Given the description of an element on the screen output the (x, y) to click on. 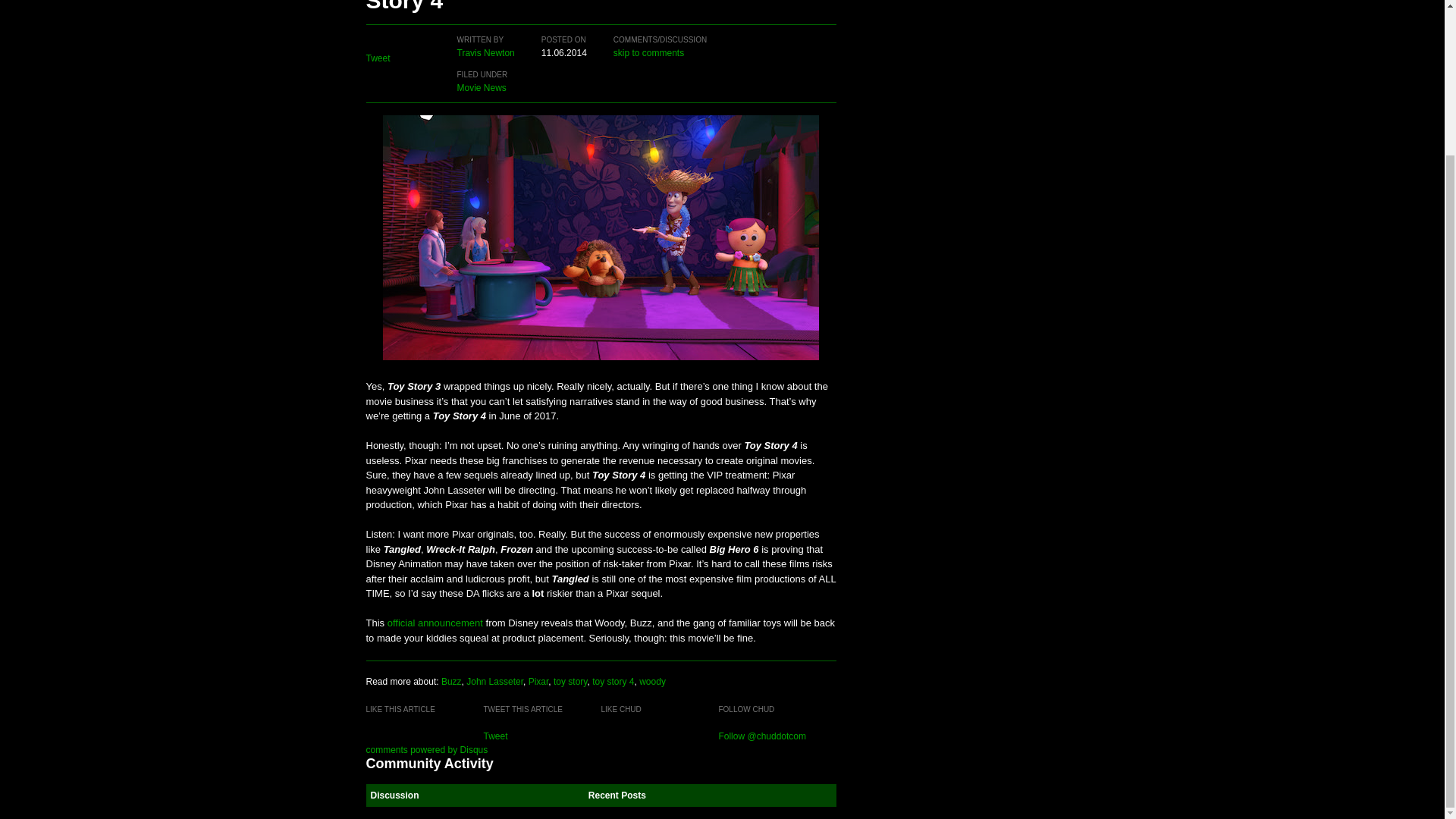
skip to comments (648, 52)
toy story 4 (612, 680)
Pixar (538, 680)
woody (652, 680)
Travis Newton (485, 52)
official announcement (435, 622)
comments powered by Disqus (426, 748)
toy story (569, 680)
Tweet (494, 735)
Tweet (377, 58)
John Lasseter (493, 680)
Buzz (451, 680)
Movie News (481, 87)
Posts by Travis Newton (485, 52)
